Given the description of an element on the screen output the (x, y) to click on. 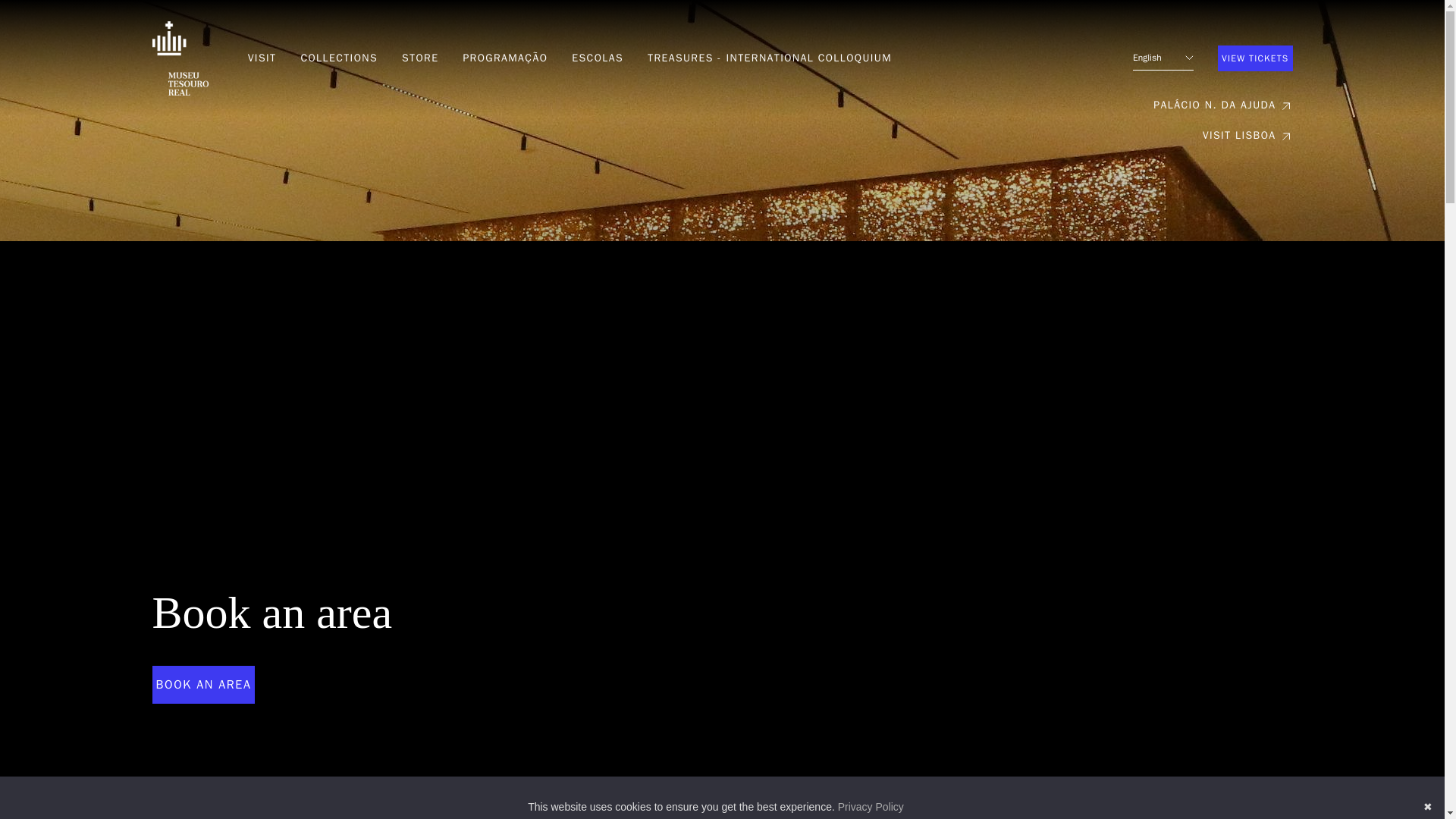
VISIT (261, 58)
ESCOLAS (597, 58)
STORE (419, 58)
TREASURES - INTERNATIONAL COLLOQUIUM (769, 58)
BOOK AN AREA (202, 684)
VIEW TICKETS (1254, 58)
VISIT LISBOA (1247, 135)
COLLECTIONS (338, 58)
English (1162, 57)
